Given the description of an element on the screen output the (x, y) to click on. 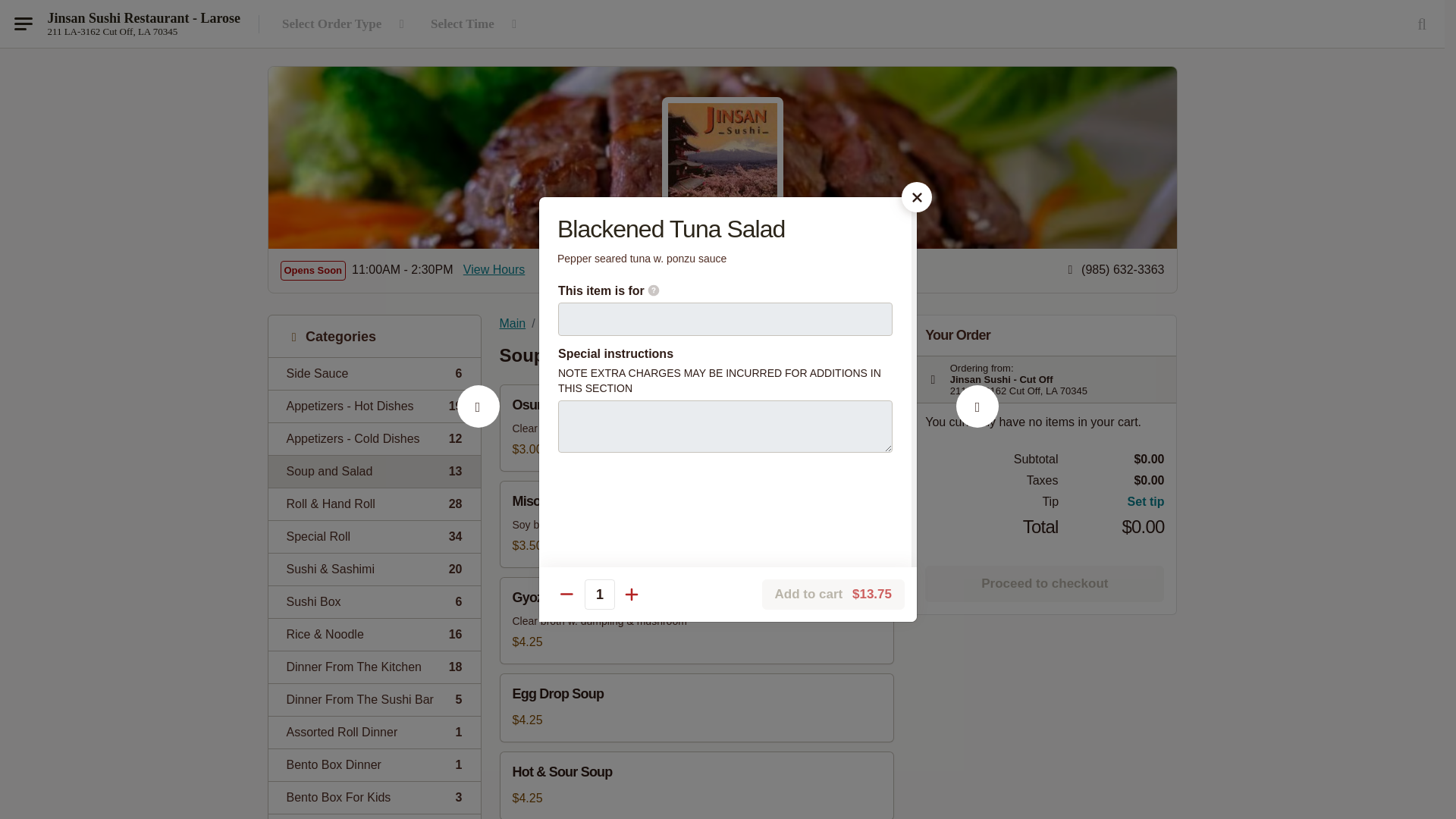
Proceed to checkout (1043, 583)
211 LA-3162 Cut Off, LA 70345 (373, 764)
View Hours (111, 31)
Select Time (373, 731)
Select Order Type (373, 373)
Asian Chicken Salad (373, 699)
1 (494, 270)
